Given the description of an element on the screen output the (x, y) to click on. 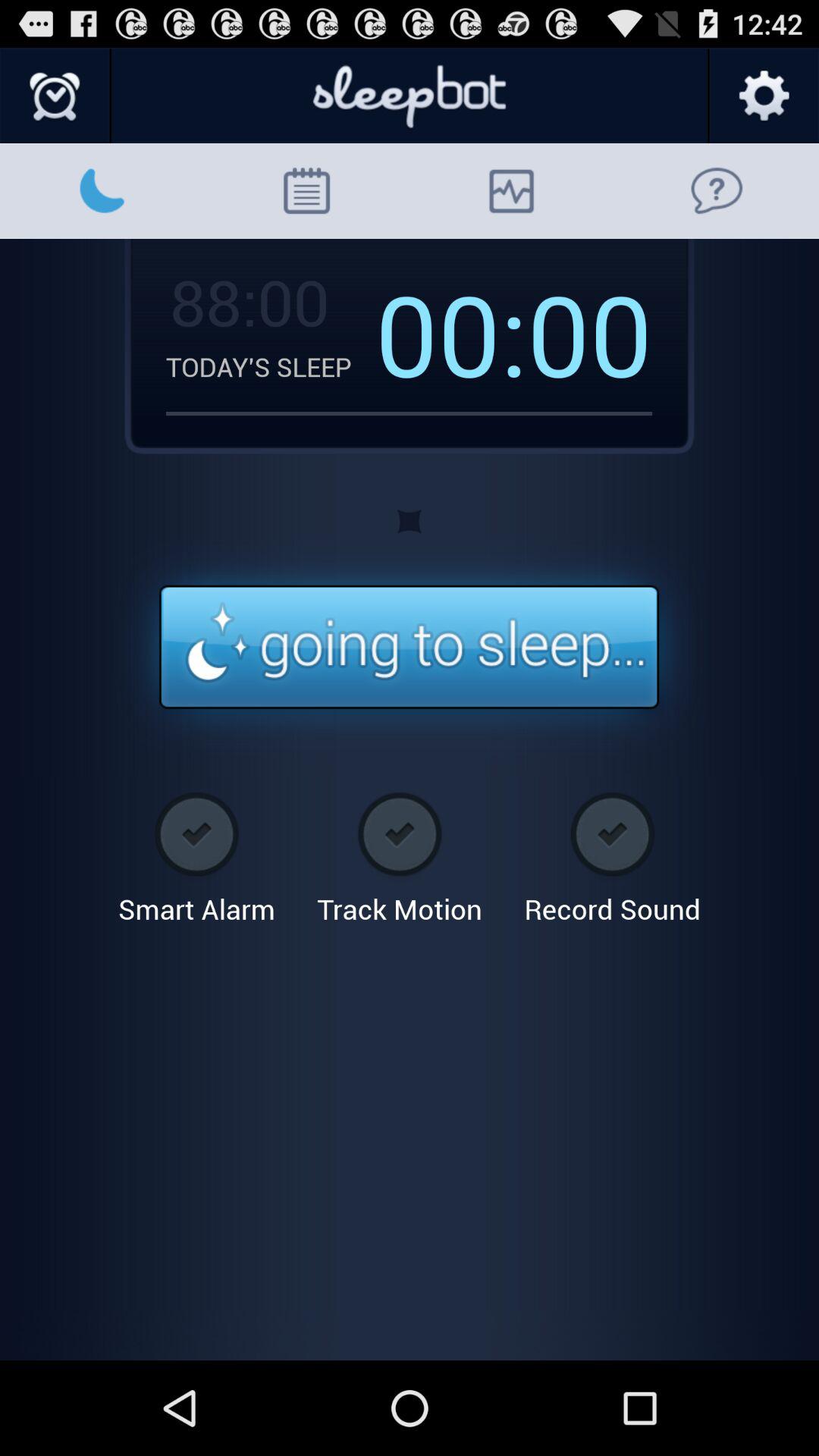
click app next to track motion (612, 852)
